Given the description of an element on the screen output the (x, y) to click on. 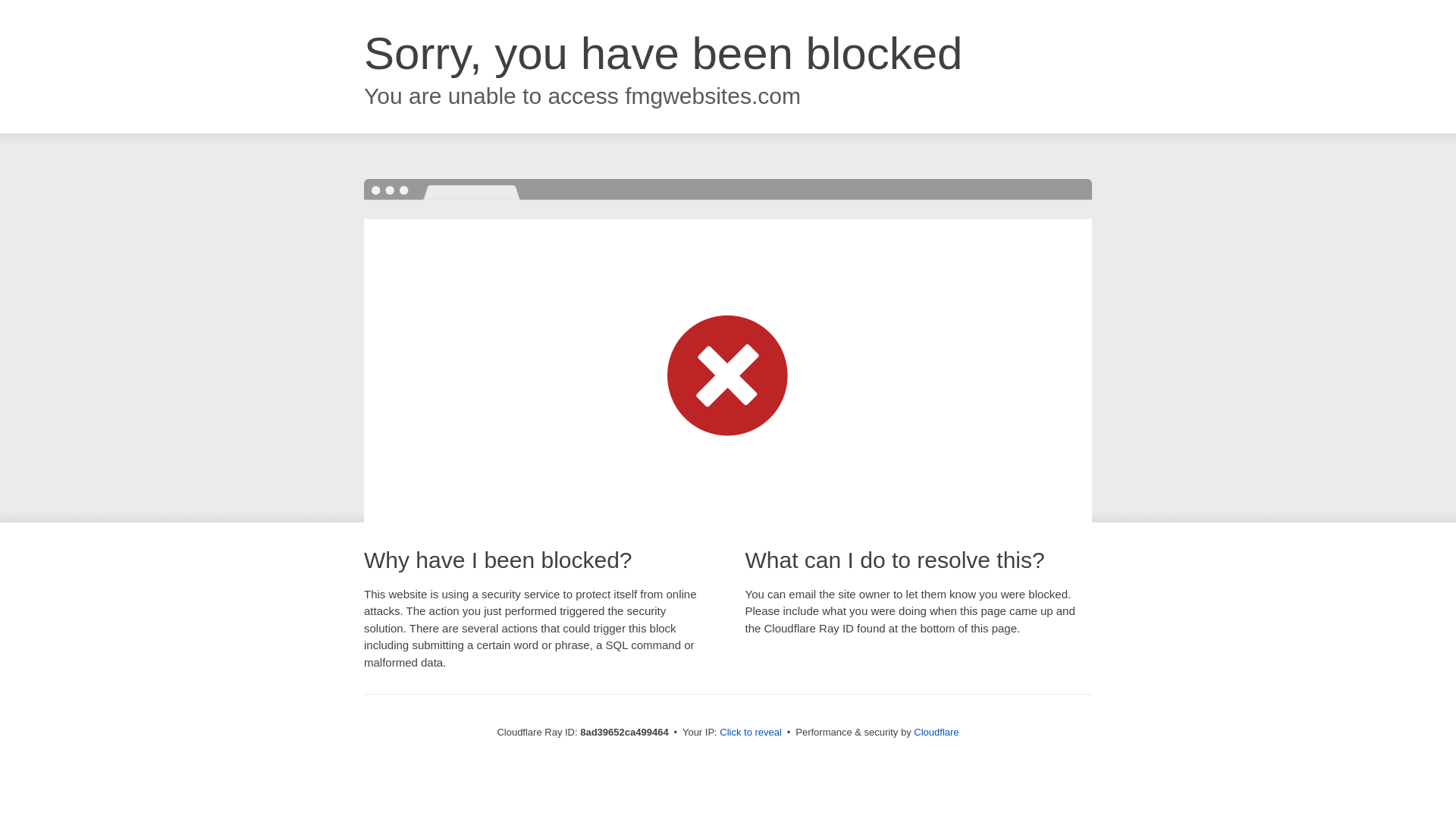
Cloudflare (936, 731)
Click to reveal (750, 732)
